Given the description of an element on the screen output the (x, y) to click on. 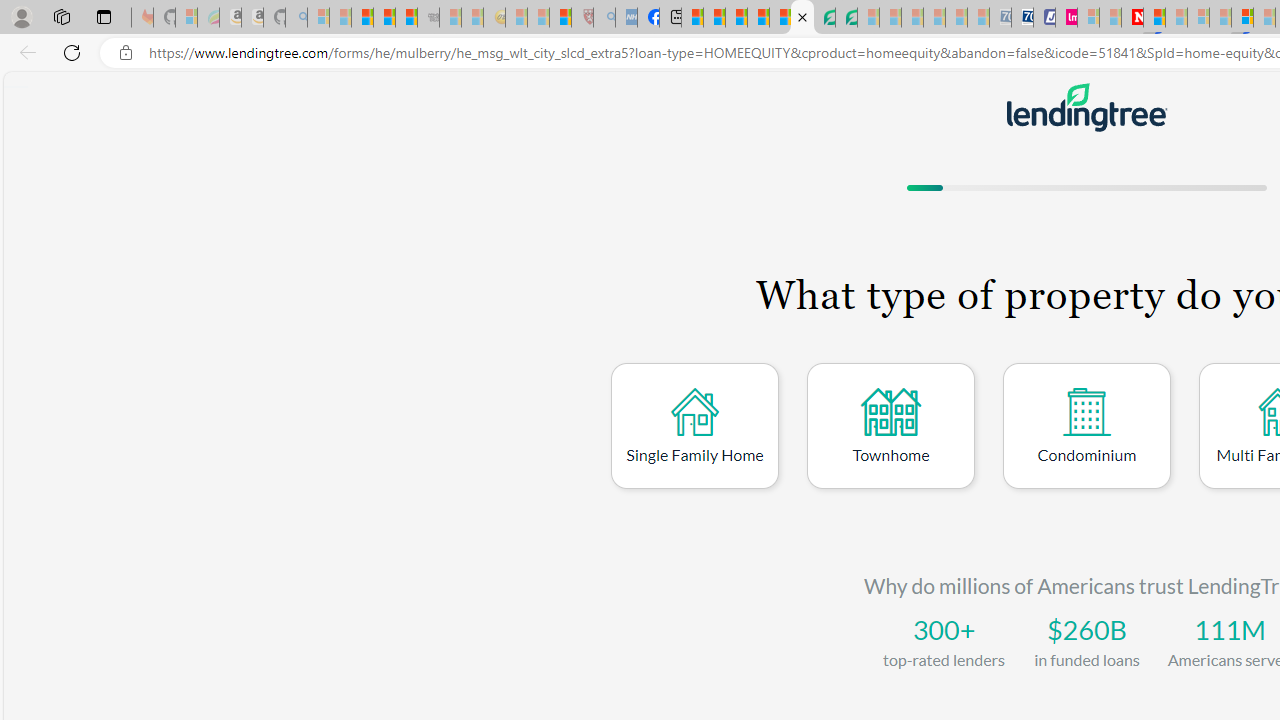
LendingTree - Compare Lenders (802, 17)
